Given the description of an element on the screen output the (x, y) to click on. 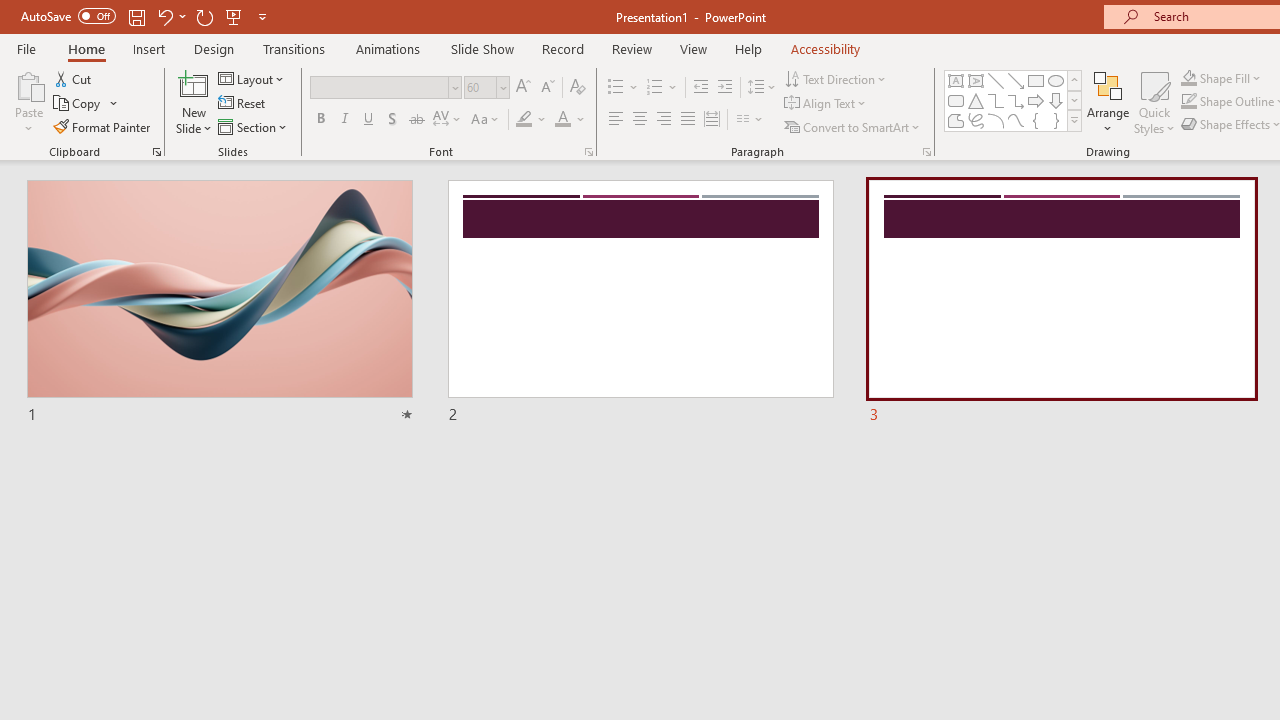
Change Case (486, 119)
Increase Font Size (522, 87)
Center (639, 119)
Decrease Indent (700, 87)
Shadow (392, 119)
